Given the description of an element on the screen output the (x, y) to click on. 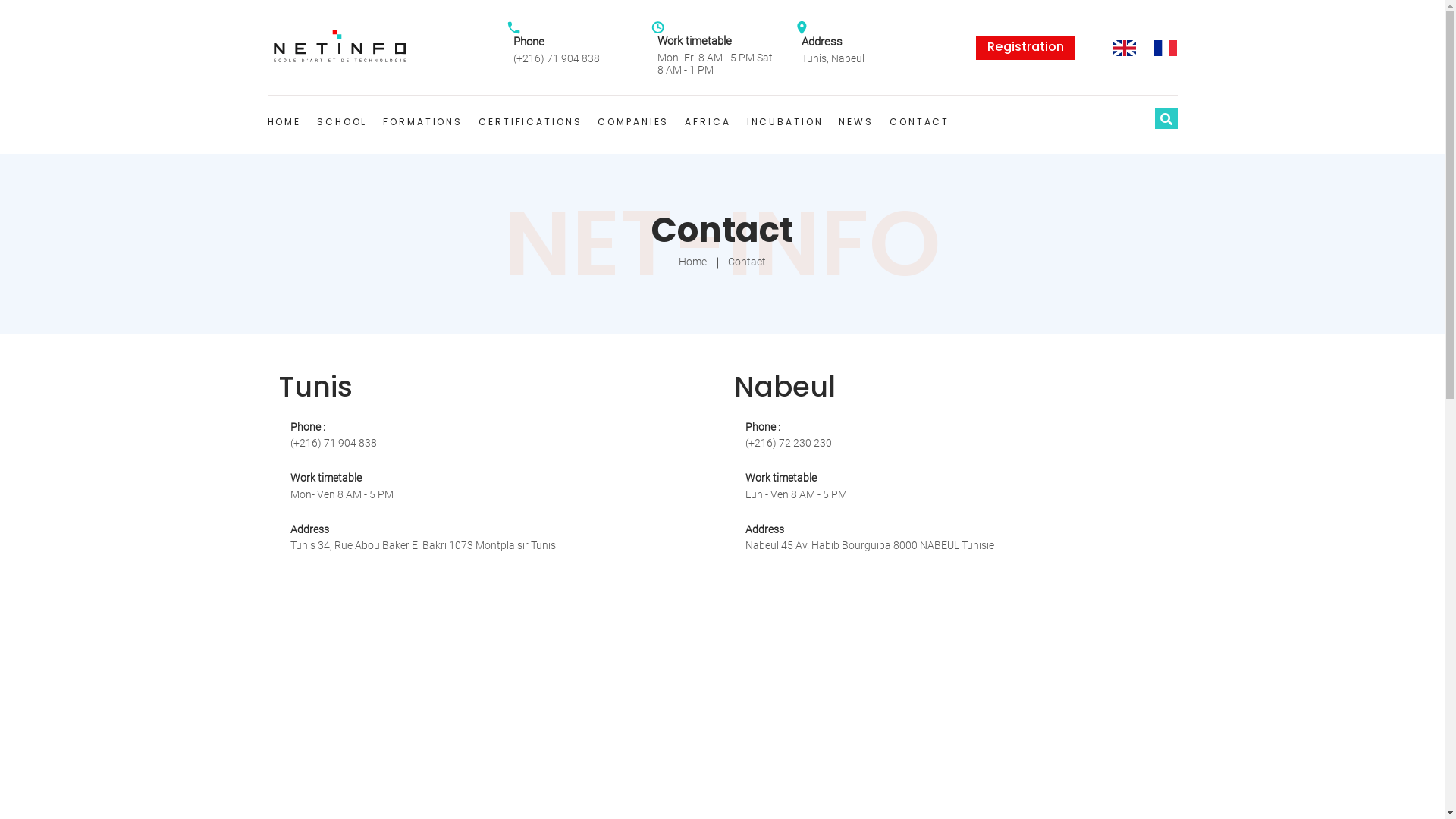
SCHOOL Element type: text (341, 121)
NEWS Element type: text (855, 121)
Home Element type: text (692, 261)
COMPANIES Element type: text (632, 121)
AFRICA Element type: text (707, 121)
CONTACT Element type: text (919, 121)
FORMATIONS Element type: text (422, 121)
INCUBATION Element type: text (784, 121)
CERTIFICATIONS Element type: text (529, 121)
HOME Element type: text (283, 121)
Registration Element type: text (1025, 47)
